Given the description of an element on the screen output the (x, y) to click on. 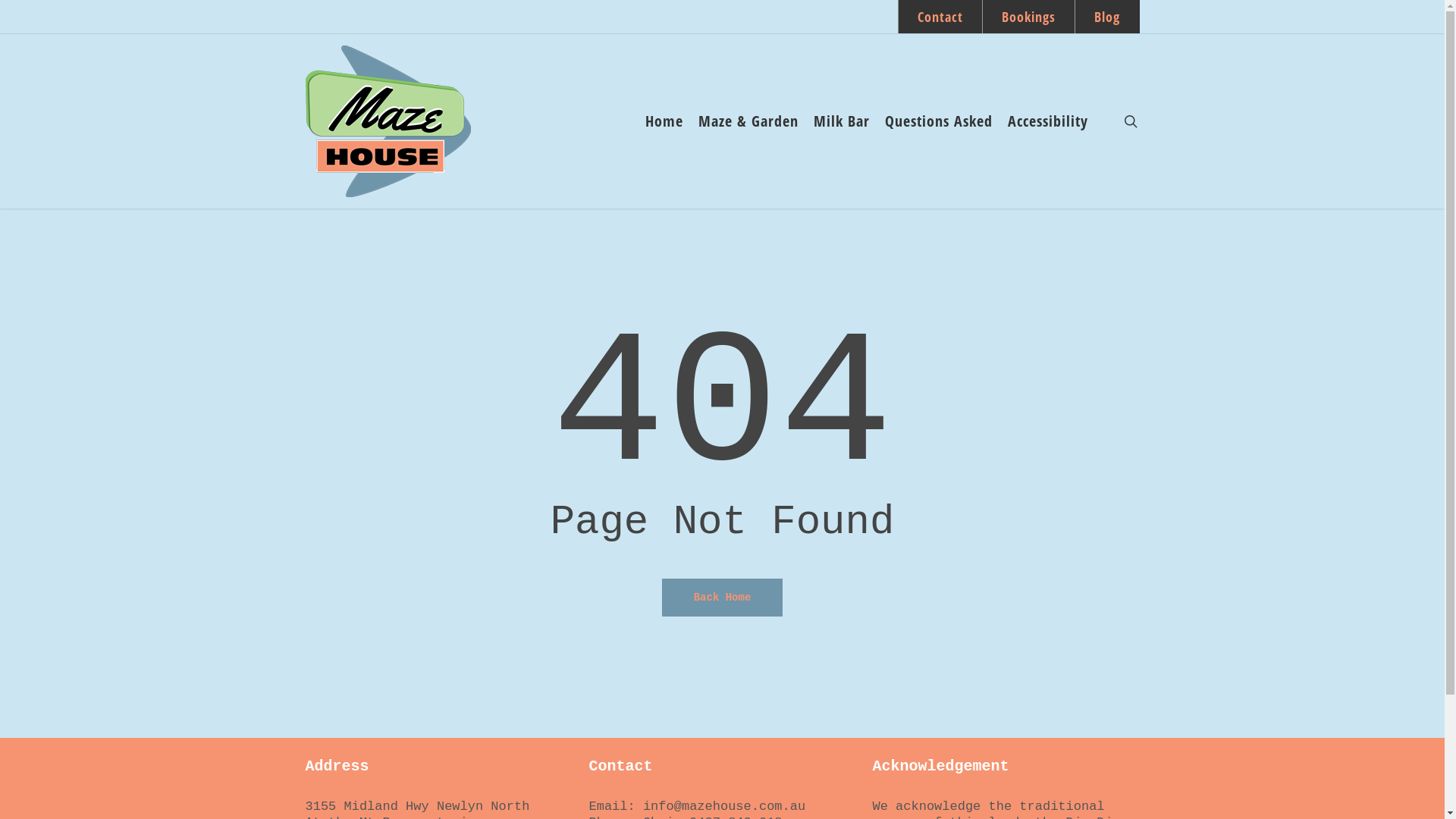
Accessibility Element type: text (1047, 121)
Blog Element type: text (1105, 16)
Milk Bar Element type: text (840, 121)
Bookings Element type: text (1027, 16)
search Element type: text (1129, 120)
Back Home Element type: text (722, 597)
Contact Element type: text (939, 16)
Maze & Garden Element type: text (747, 121)
Questions Asked Element type: text (937, 121)
Home Element type: text (663, 121)
info@mazehouse.com.au Element type: text (724, 806)
